Given the description of an element on the screen output the (x, y) to click on. 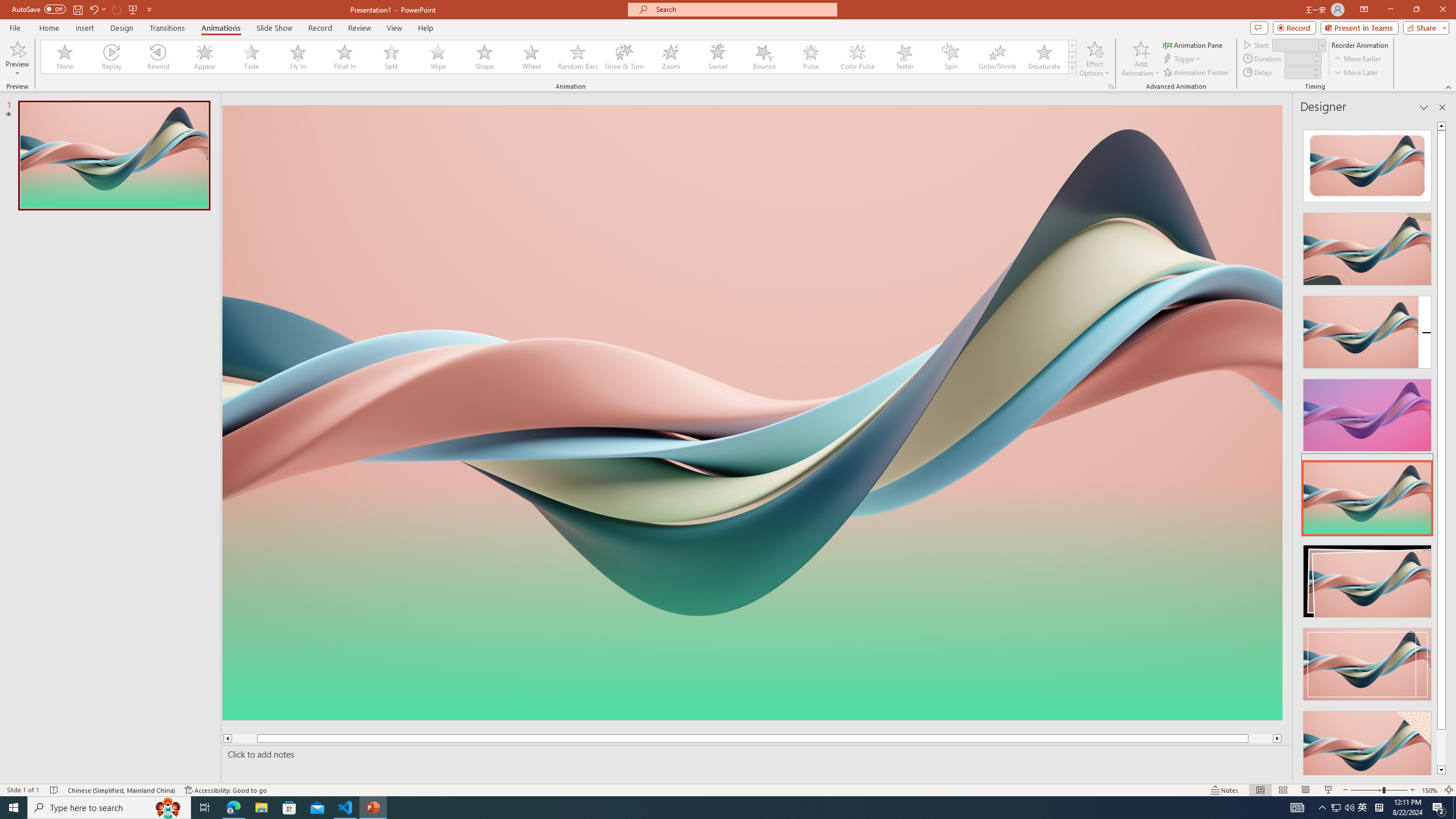
Wavy 3D art (752, 412)
Microsoft search (742, 9)
Teeter (903, 56)
Undo (96, 9)
Animation Delay (1297, 72)
Zoom In (1412, 790)
Record (1294, 27)
Home (48, 28)
Insert (83, 28)
Appear (205, 56)
Rewind (158, 56)
Zoom (670, 56)
Zoom to Fit  (1449, 790)
Start (1299, 44)
View (395, 28)
